Given the description of an element on the screen output the (x, y) to click on. 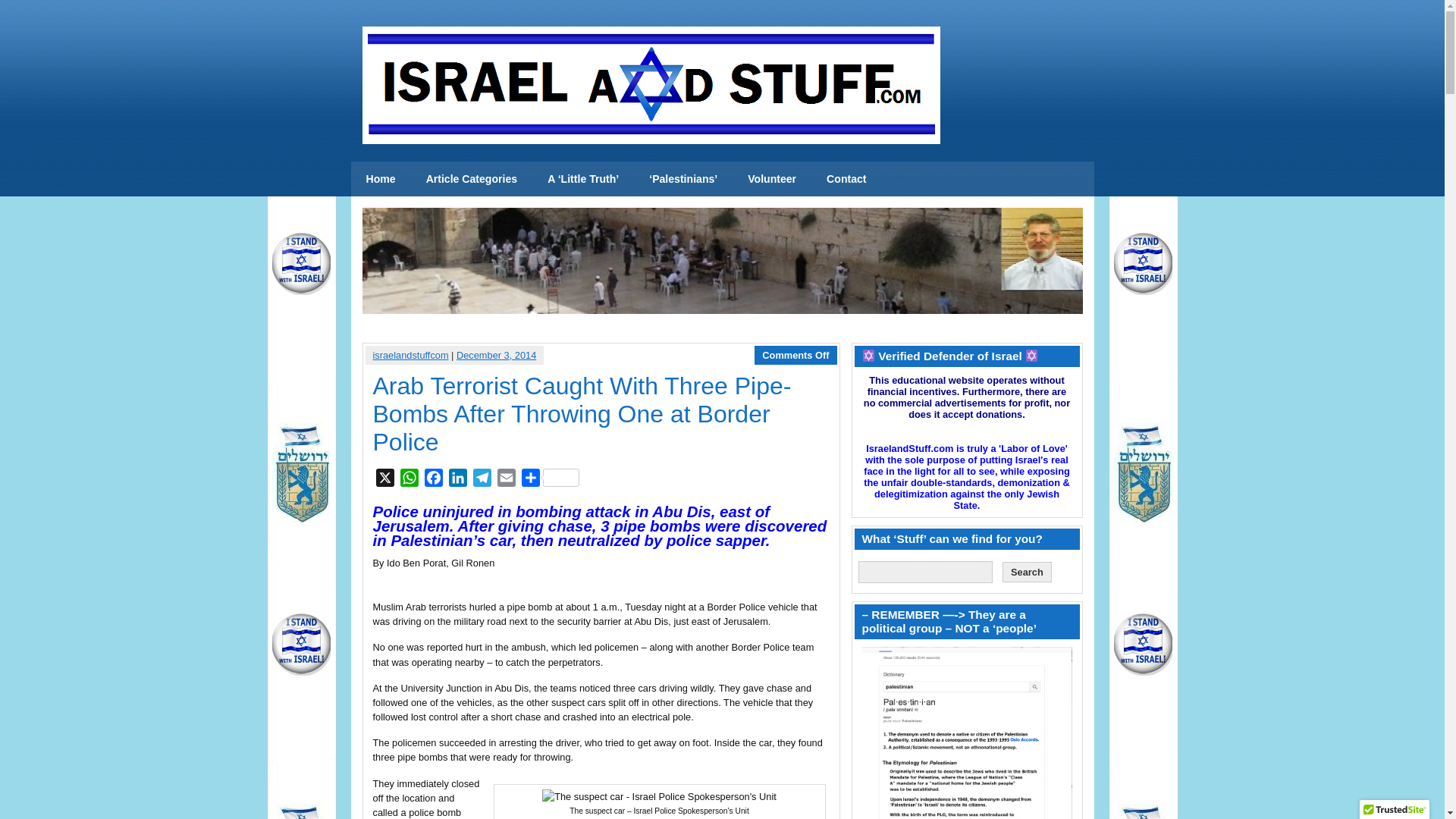
X (384, 480)
israelandstuffcom (410, 355)
December 3, 2014 (496, 355)
LinkedIn (457, 480)
Volunteer (771, 178)
Article Categories (471, 178)
Search (1027, 571)
Contact (845, 178)
Email (506, 480)
Facebook (433, 480)
Posts by israelandstuffcom (410, 355)
LinkedIn (457, 480)
X (384, 480)
WhatsApp (409, 480)
Telegram (482, 480)
